Given the description of an element on the screen output the (x, y) to click on. 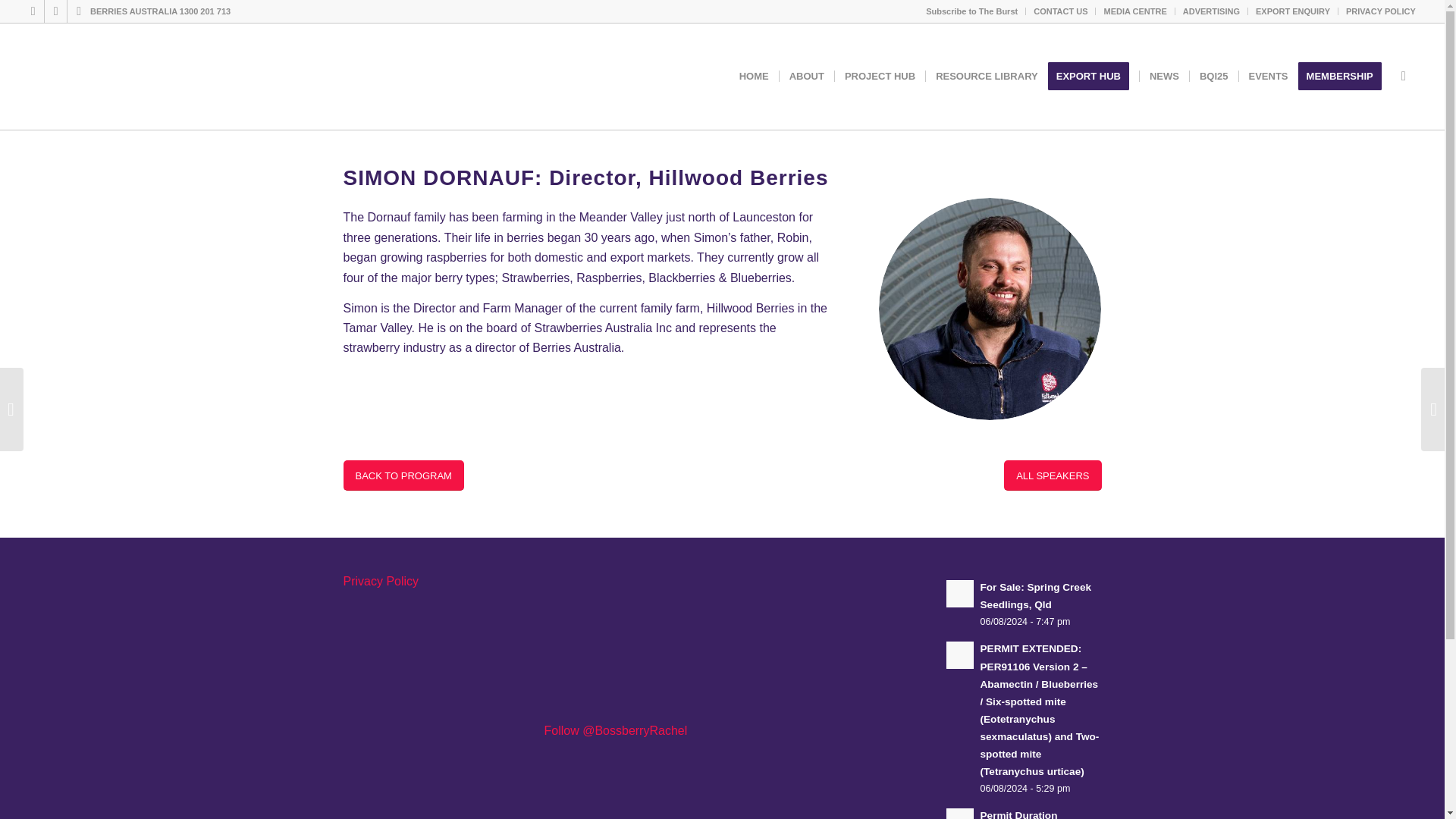
ADVERTISING (1211, 11)
EXPORT ENQUIRY (1292, 11)
Subscribe to The Burst (971, 11)
MEDIA CENTRE (1134, 11)
X (32, 11)
Facebook (78, 11)
LinkedIn (55, 11)
CONTACT US (1060, 11)
Read: For Sale: Spring Creek Seedlings, Qld (1034, 595)
PRIVACY POLICY (1380, 11)
